Given the description of an element on the screen output the (x, y) to click on. 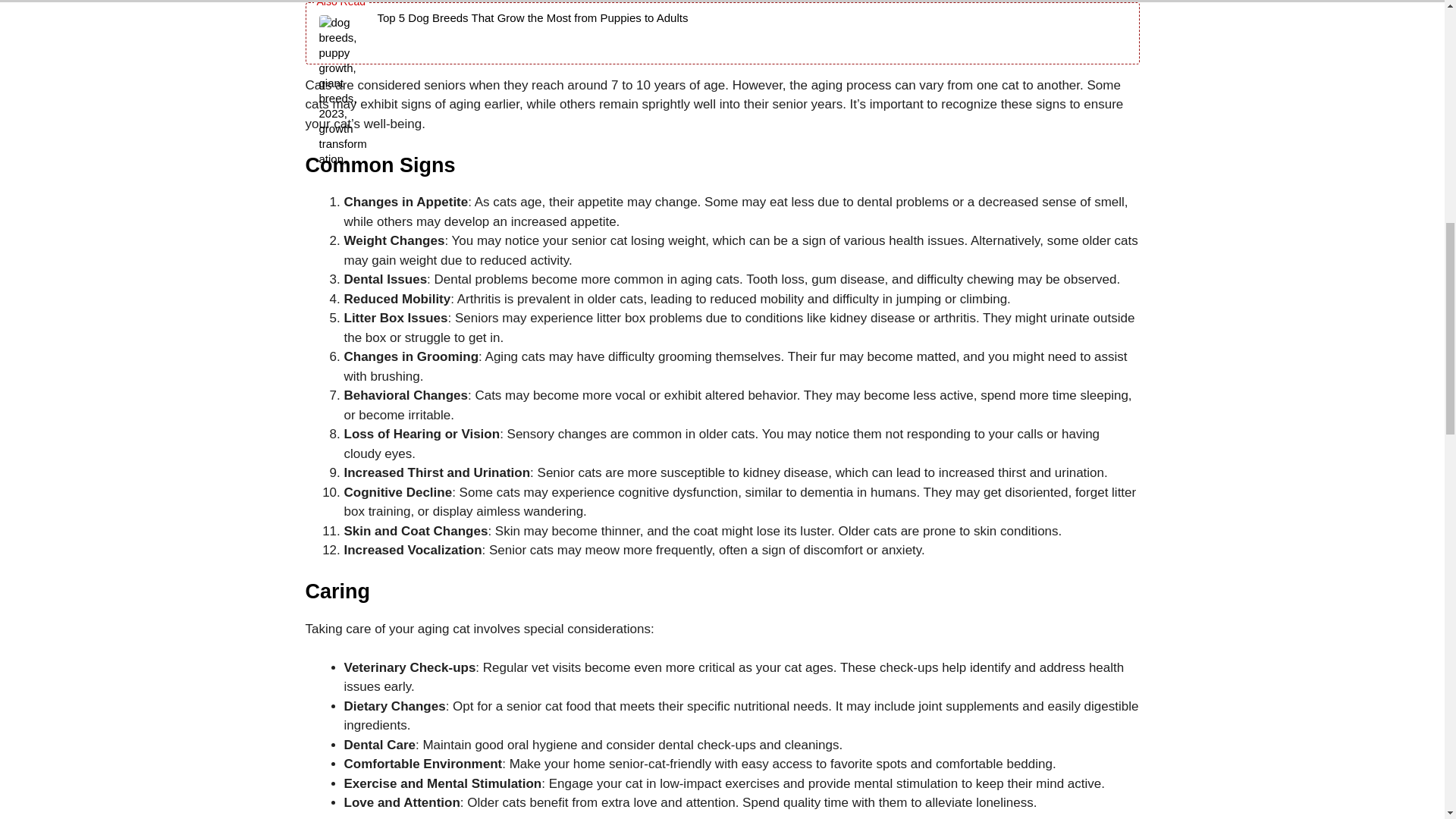
Top 5 Dog Breeds That Grow the Most from Puppies to Adults (532, 33)
